Given the description of an element on the screen output the (x, y) to click on. 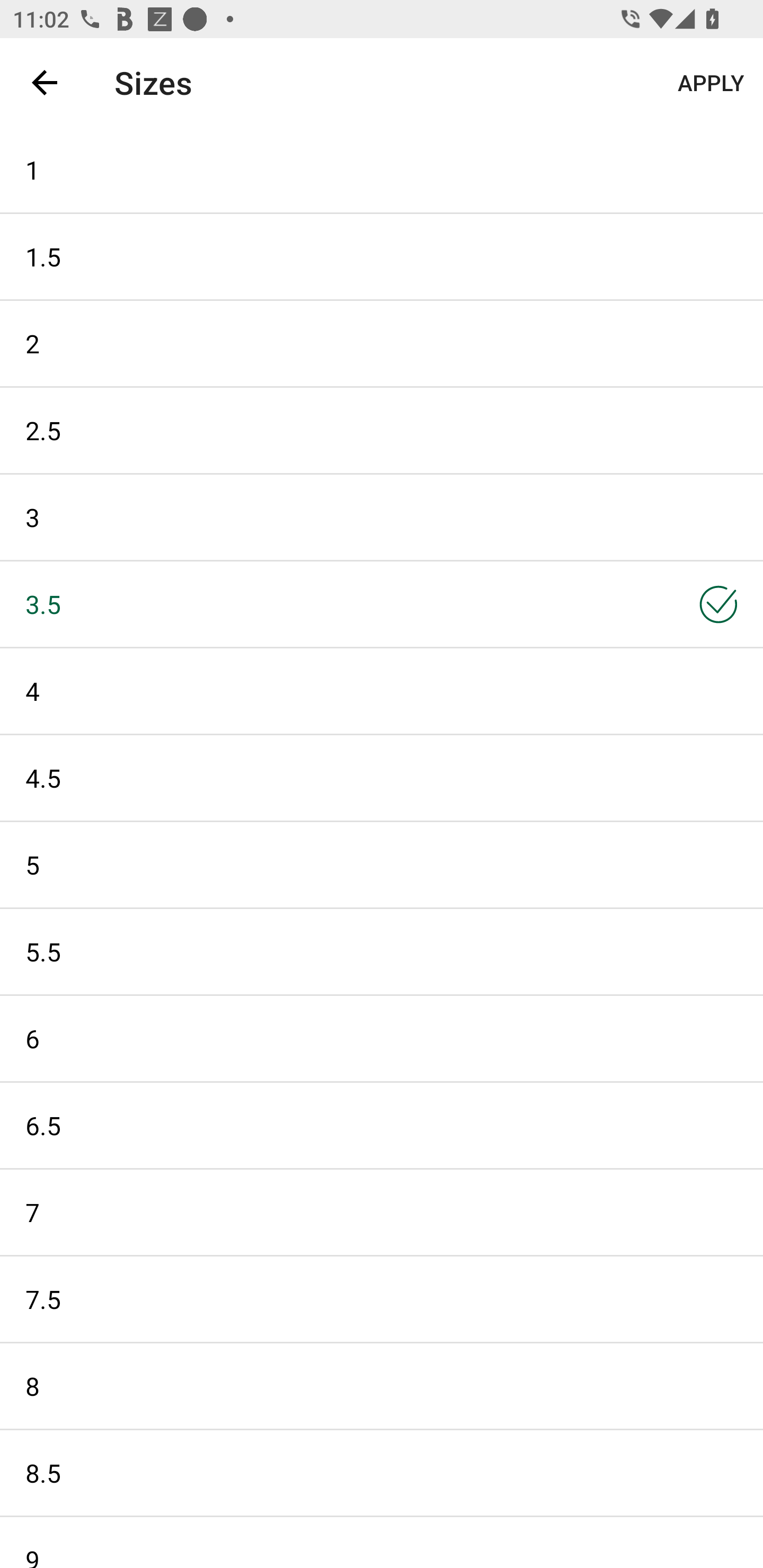
flats (370, 82)
1 (381, 169)
1.5 (381, 256)
2 (381, 343)
2.5 (381, 430)
3 (381, 517)
3.5 Next (381, 603)
4 (381, 691)
4.5 (381, 777)
5 (381, 864)
5.5 (381, 951)
6 (381, 1038)
6.5 (381, 1125)
7 (381, 1211)
7.5 (381, 1298)
8 (381, 1385)
8.5 (381, 1473)
9 (381, 1542)
